Given the description of an element on the screen output the (x, y) to click on. 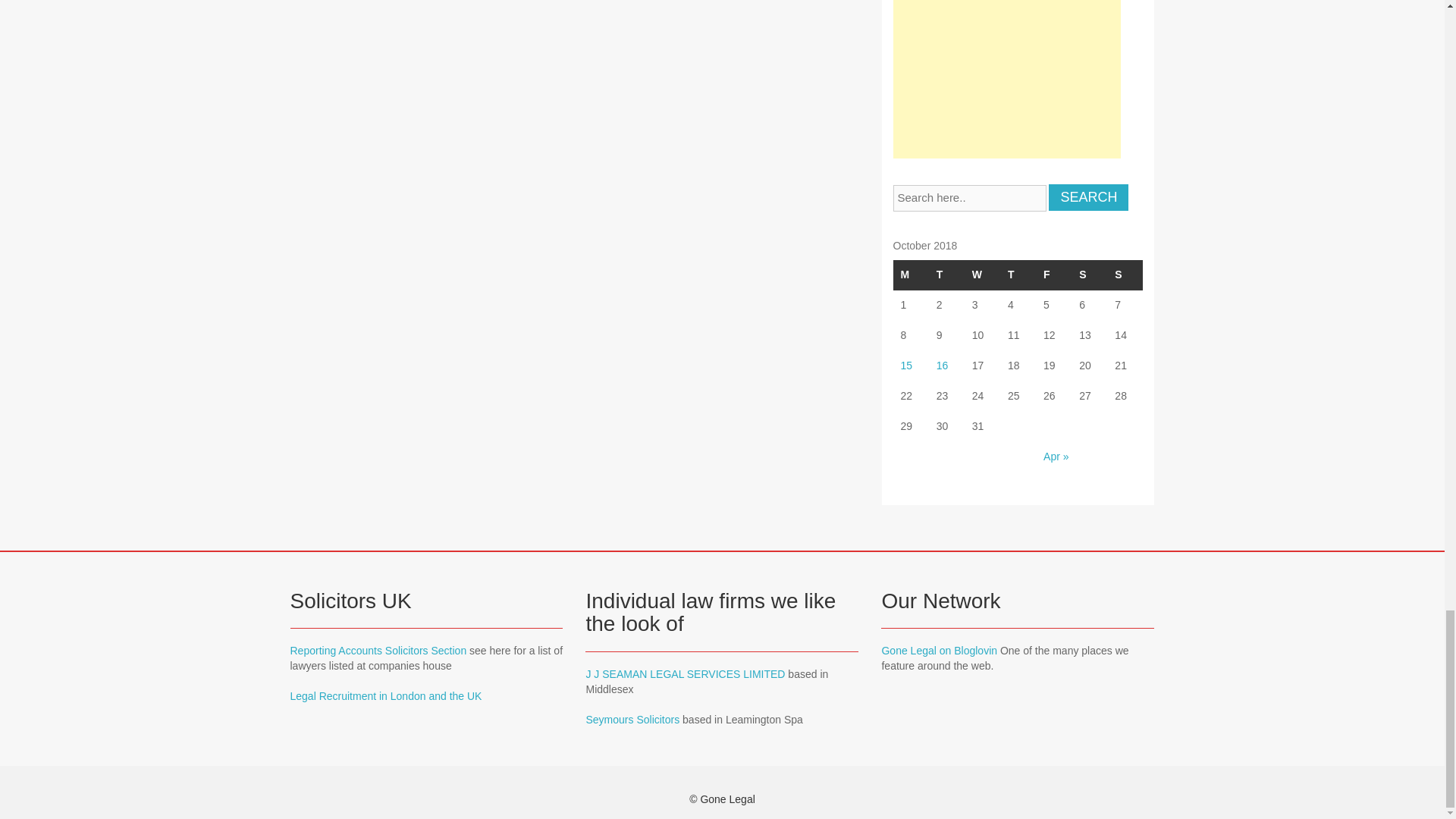
Search for: (969, 198)
Search (1088, 197)
Saturday (1088, 275)
Thursday (1017, 275)
Wednesday (981, 275)
Monday (910, 275)
Sunday (1124, 275)
Friday (1053, 275)
Tuesday (945, 275)
